Given the description of an element on the screen output the (x, y) to click on. 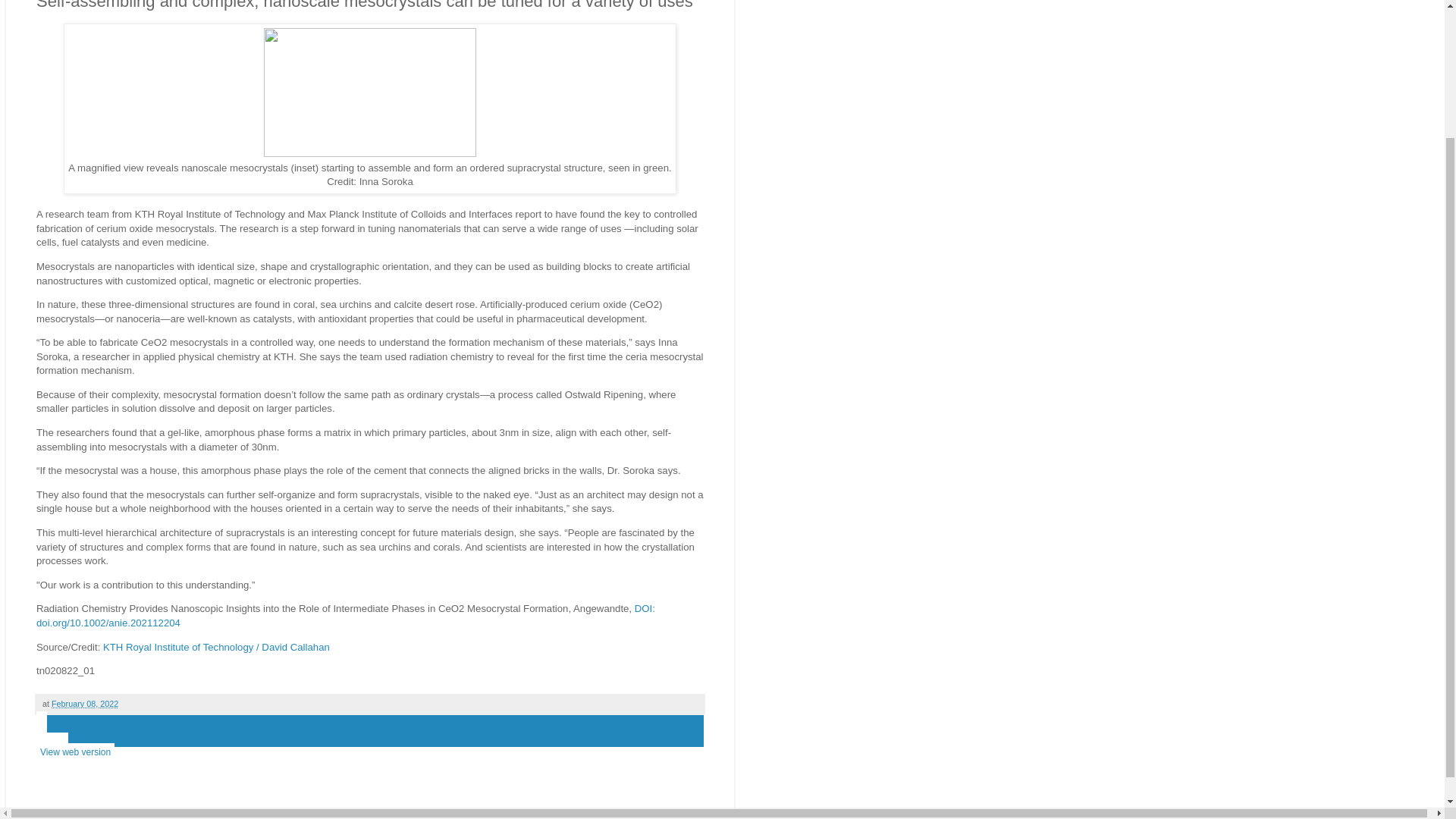
View web version (75, 751)
February 08, 2022 (83, 703)
Blogger (393, 811)
Home (52, 741)
permanent link (83, 703)
